Given the description of an element on the screen output the (x, y) to click on. 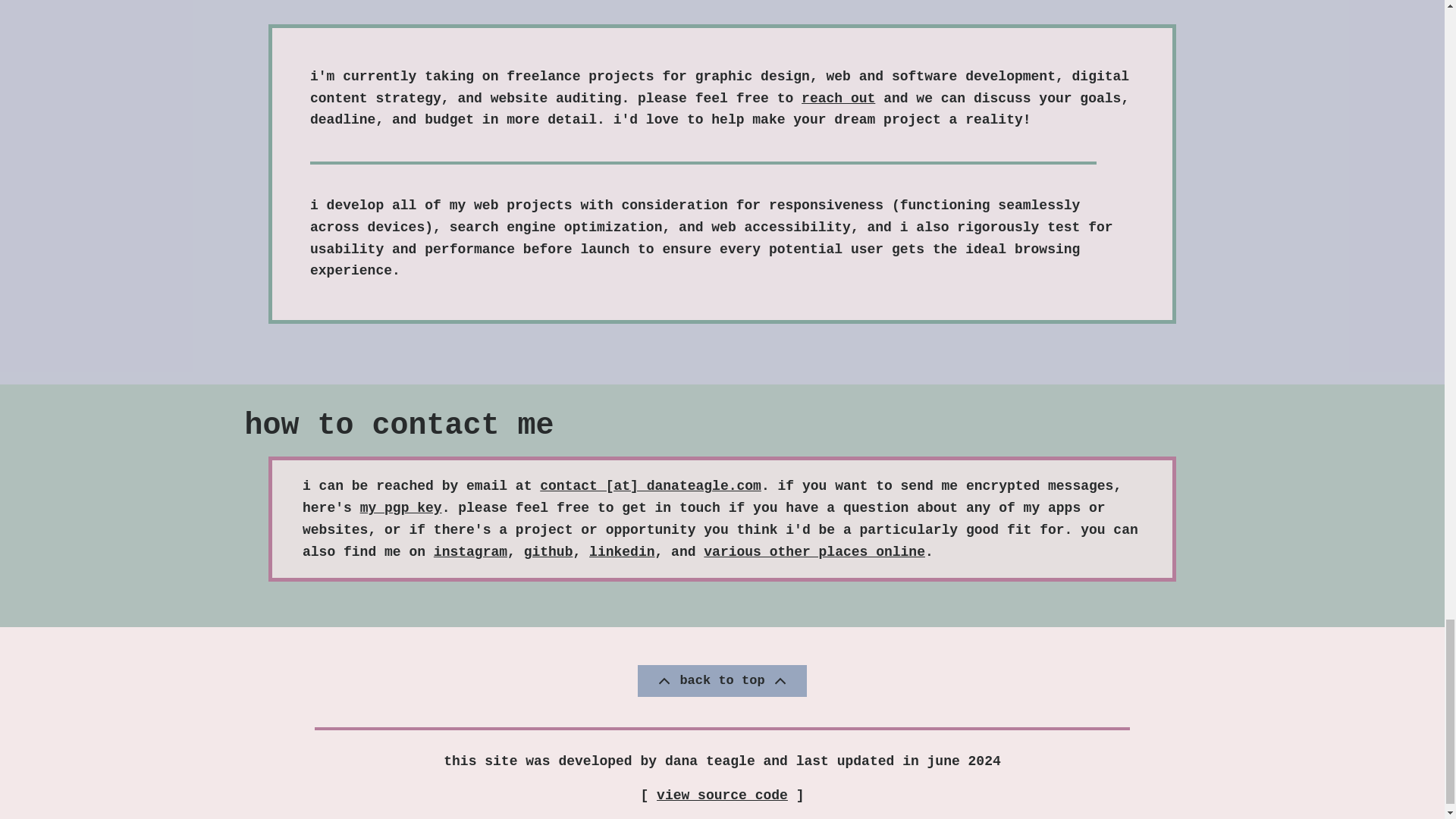
back to top (721, 680)
